Given the description of an element on the screen output the (x, y) to click on. 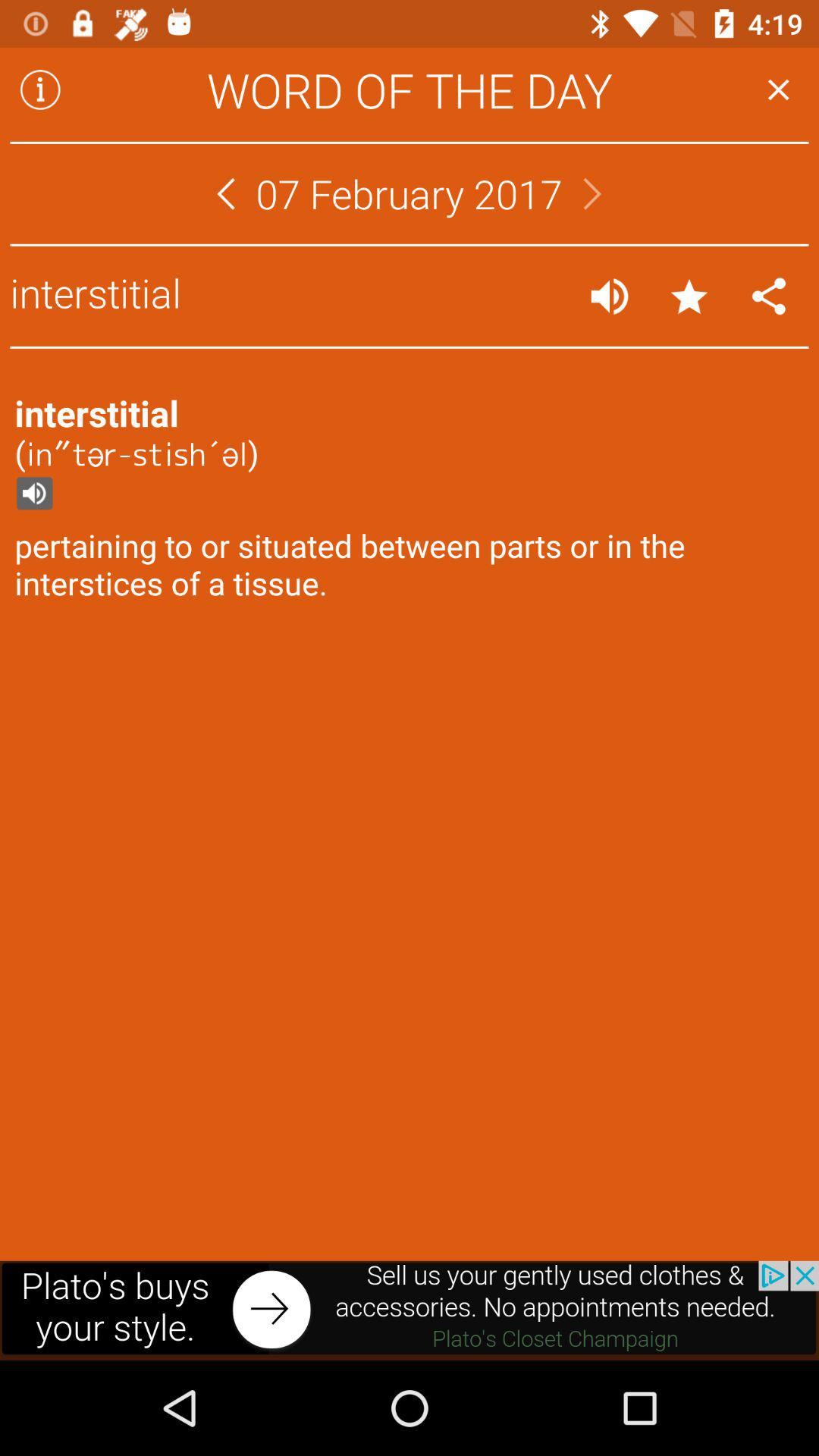
audio volume (609, 296)
